Given the description of an element on the screen output the (x, y) to click on. 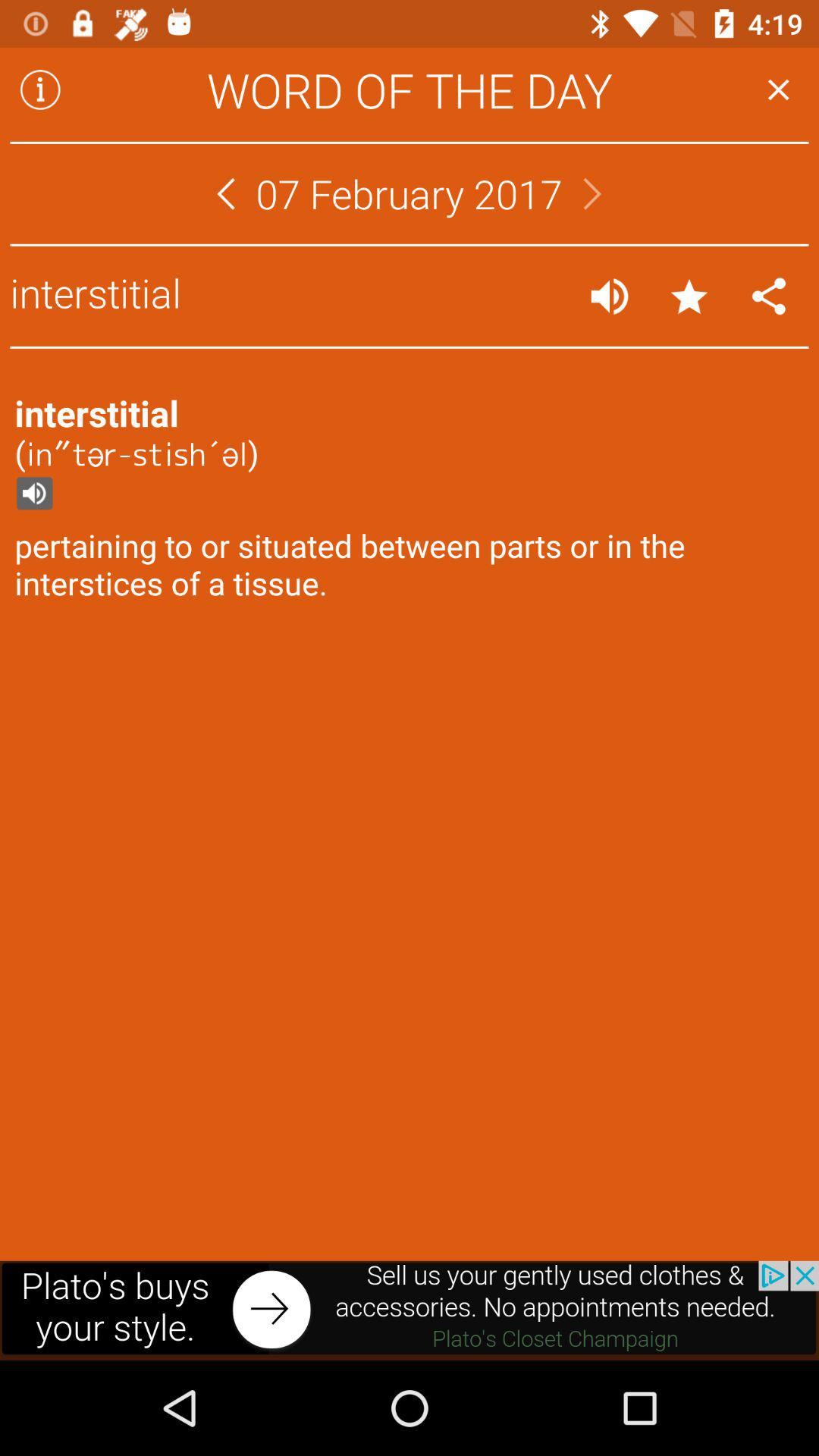
audio volume (609, 296)
